Given the description of an element on the screen output the (x, y) to click on. 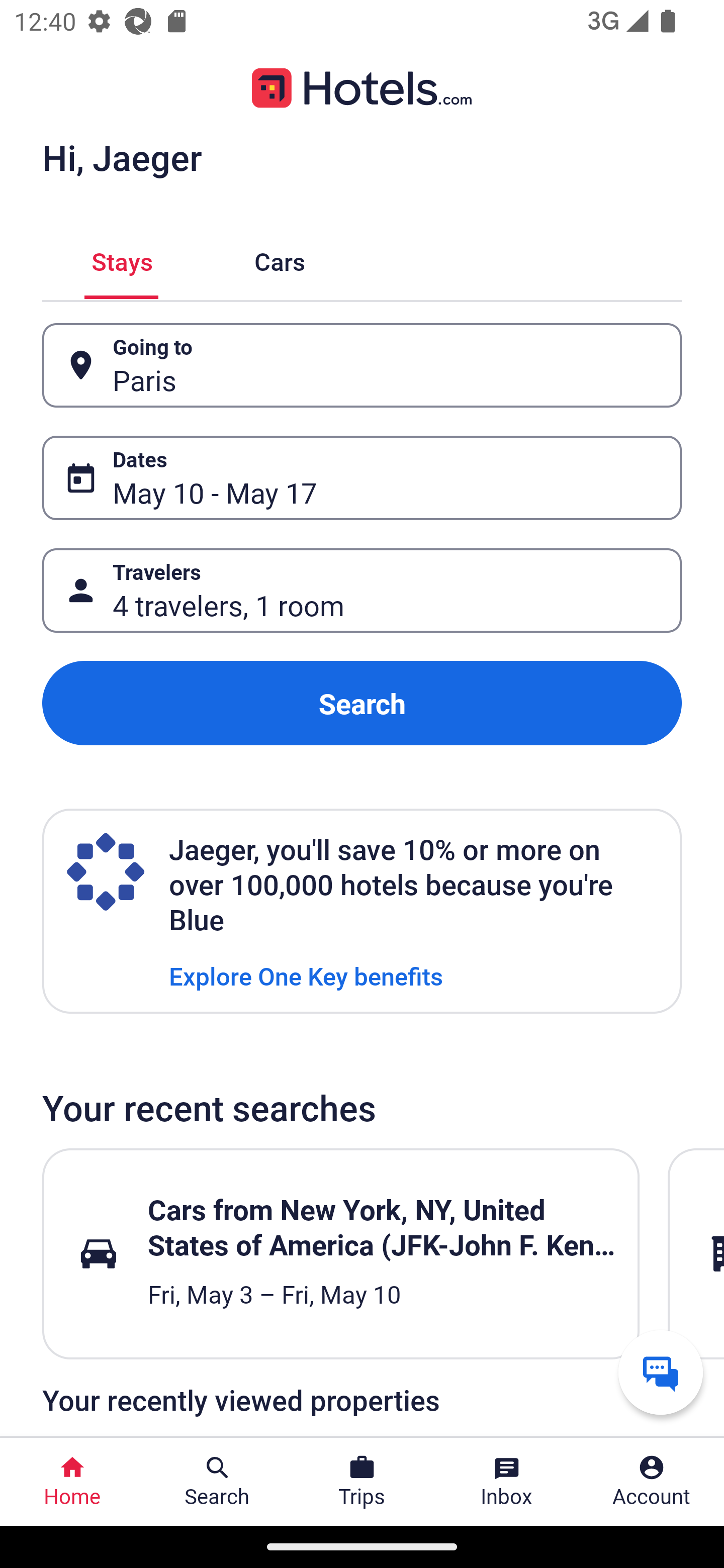
Hi, Jaeger (121, 156)
Cars (279, 259)
Going to Button Paris (361, 365)
Dates Button May 10 - May 17 (361, 477)
Travelers Button 4 travelers, 1 room (361, 590)
Search (361, 702)
Get help from a virtual agent (660, 1371)
Search Search Button (216, 1481)
Trips Trips Button (361, 1481)
Inbox Inbox Button (506, 1481)
Account Profile. Button (651, 1481)
